Given the description of an element on the screen output the (x, y) to click on. 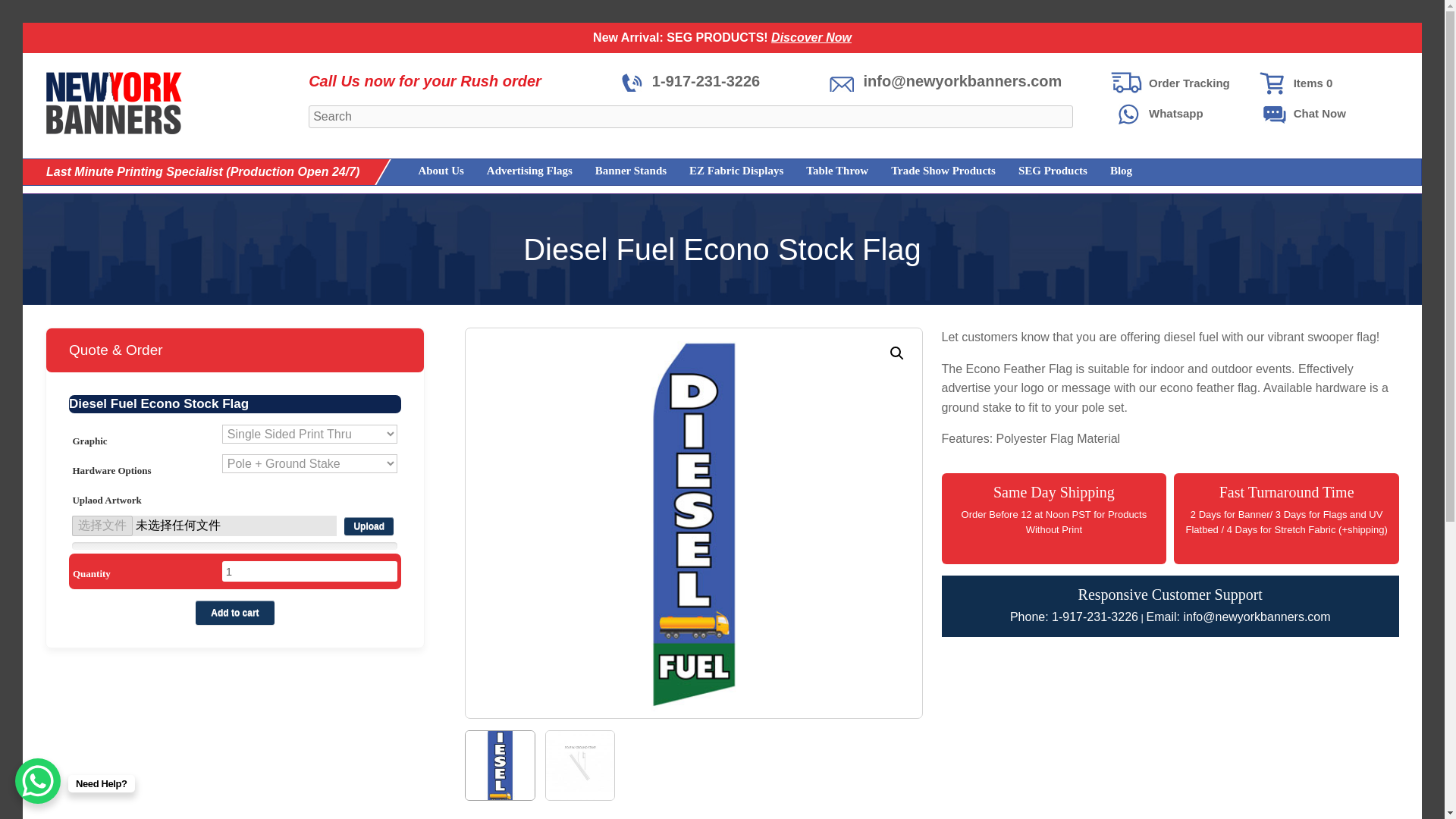
Table Throw (825, 170)
Trade Show Products (931, 170)
Advertising Flags (518, 170)
Chat Now (1325, 113)
1-917-231-3226 (690, 80)
Order Tracking (1181, 83)
EZ Fabric Displays (724, 170)
New York Banners (113, 103)
Whatsapp (1181, 113)
1 (309, 571)
Banner Stands (619, 170)
Items 0 (1325, 83)
About Us (428, 170)
SEG Products (1041, 170)
Advertising Flags (518, 170)
